Given the description of an element on the screen output the (x, y) to click on. 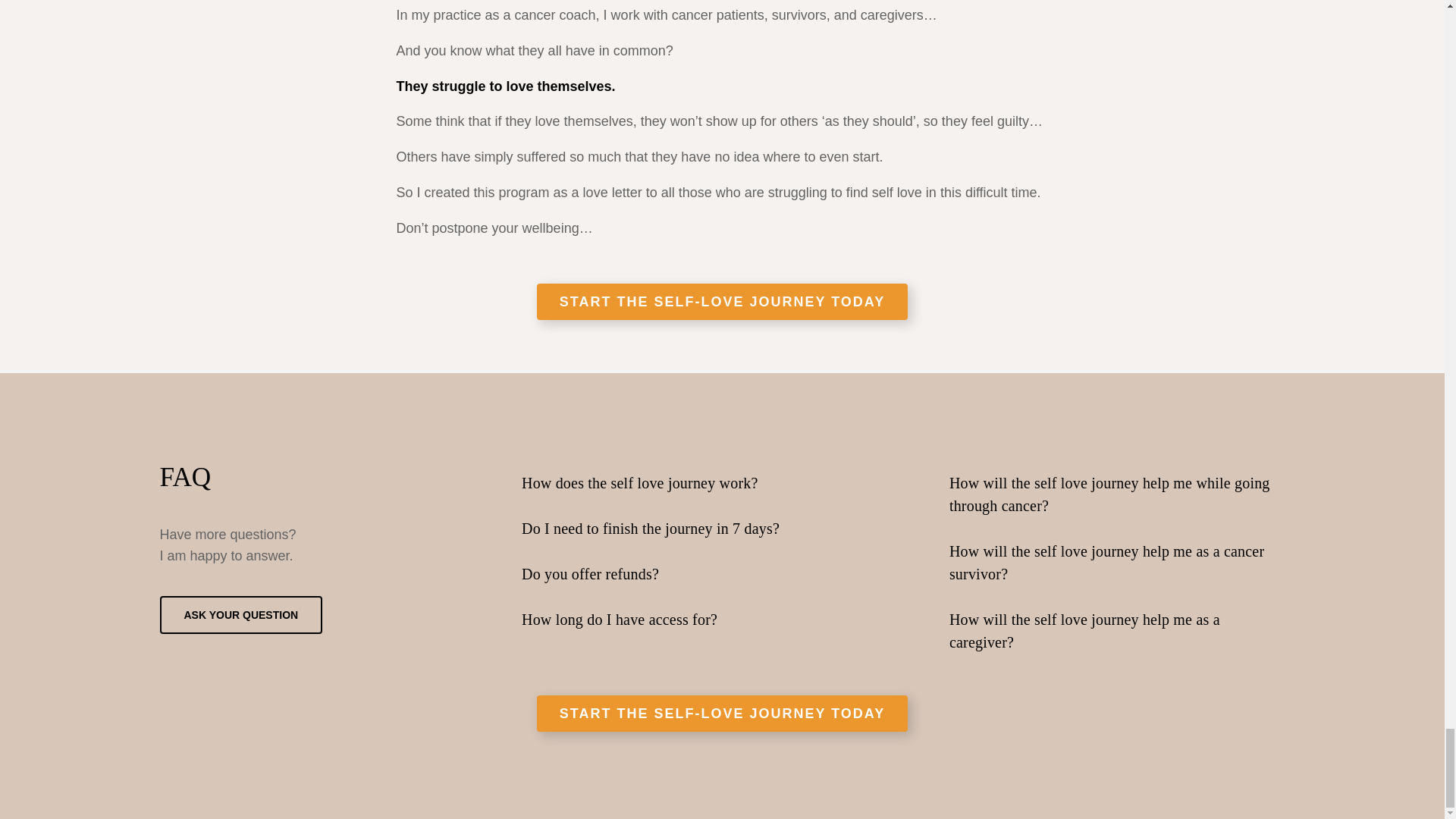
START THE SELF-LOVE JOURNEY TODAY (722, 713)
START THE SELF-LOVE JOURNEY TODAY (722, 301)
ASK YOUR QUESTION (239, 614)
